Given the description of an element on the screen output the (x, y) to click on. 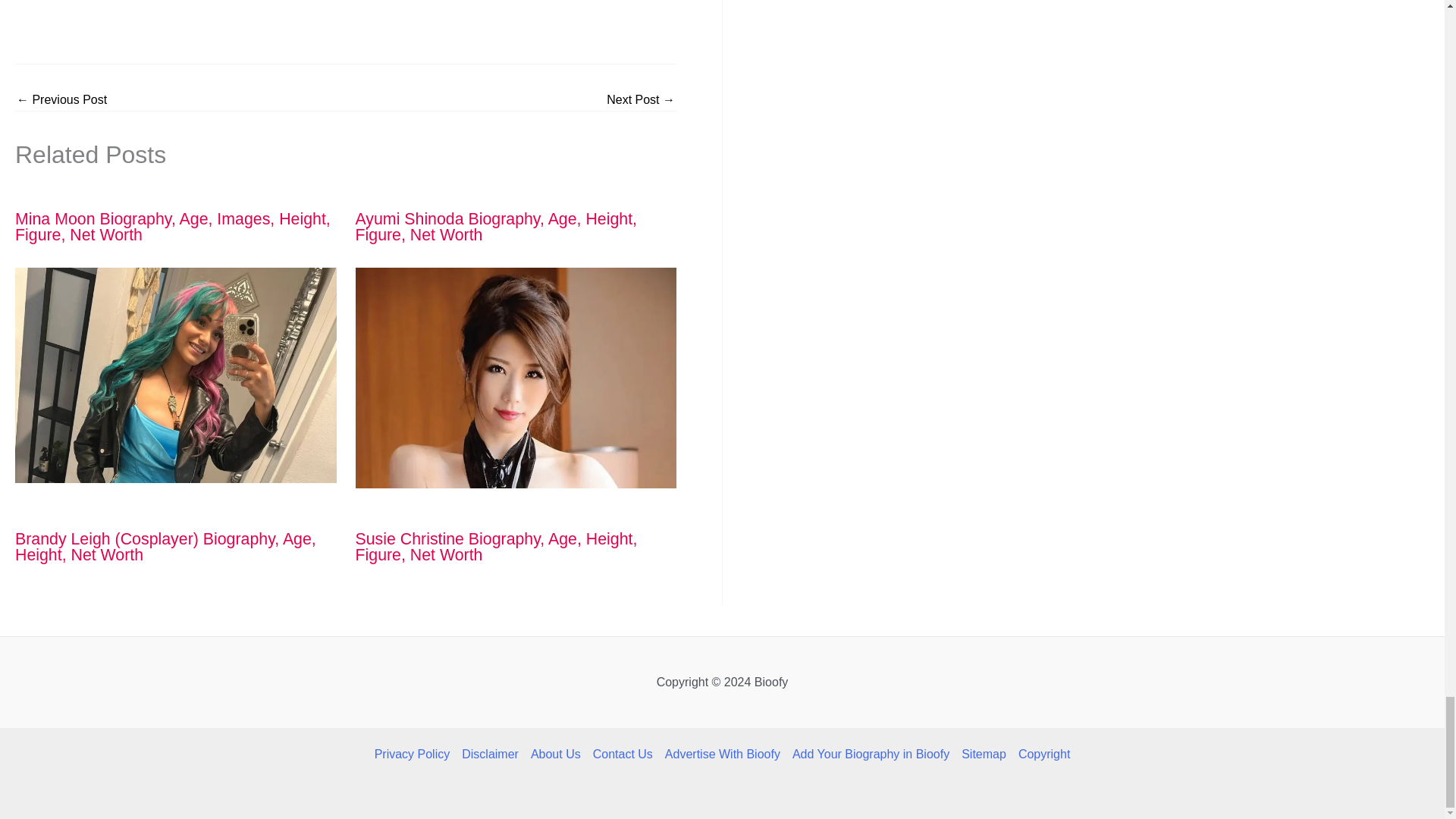
Jennifer Lawrence Biography, Age, Family, Images, Net Worth (61, 100)
Pari Tamang Biography, Age, Family, Images, Net Worth (641, 100)
Ayumi Shinoda Biography, Age, Height, Figure, Net Worth 2 (516, 377)
